Given the description of an element on the screen output the (x, y) to click on. 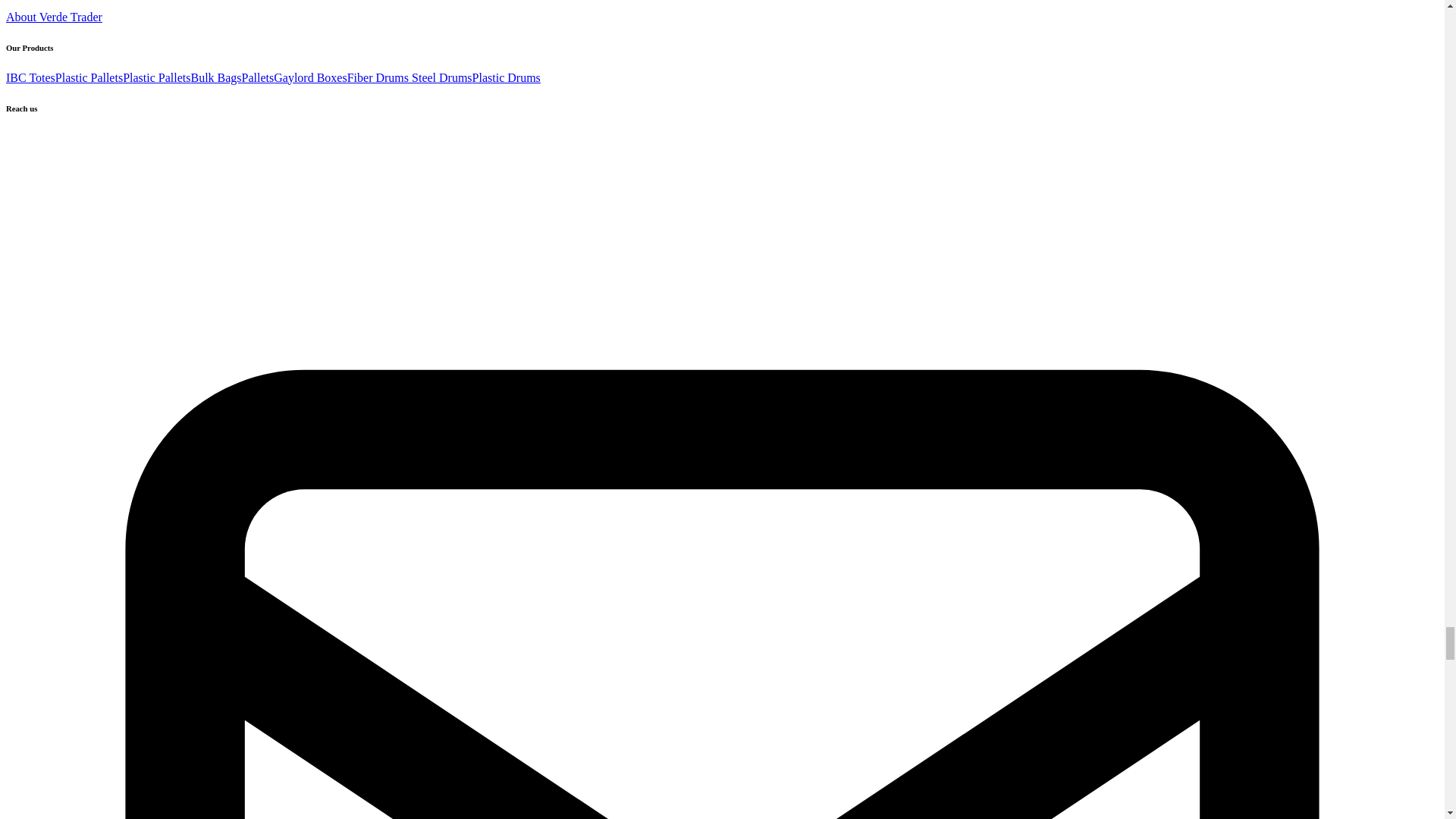
Bulk Bags (215, 77)
IBC Totes (30, 77)
Gaylord Boxes (309, 77)
Plastic Pallets (156, 77)
Pallets (258, 77)
Plastic Pallets (88, 77)
About Verde Trader (53, 16)
